Given the description of an element on the screen output the (x, y) to click on. 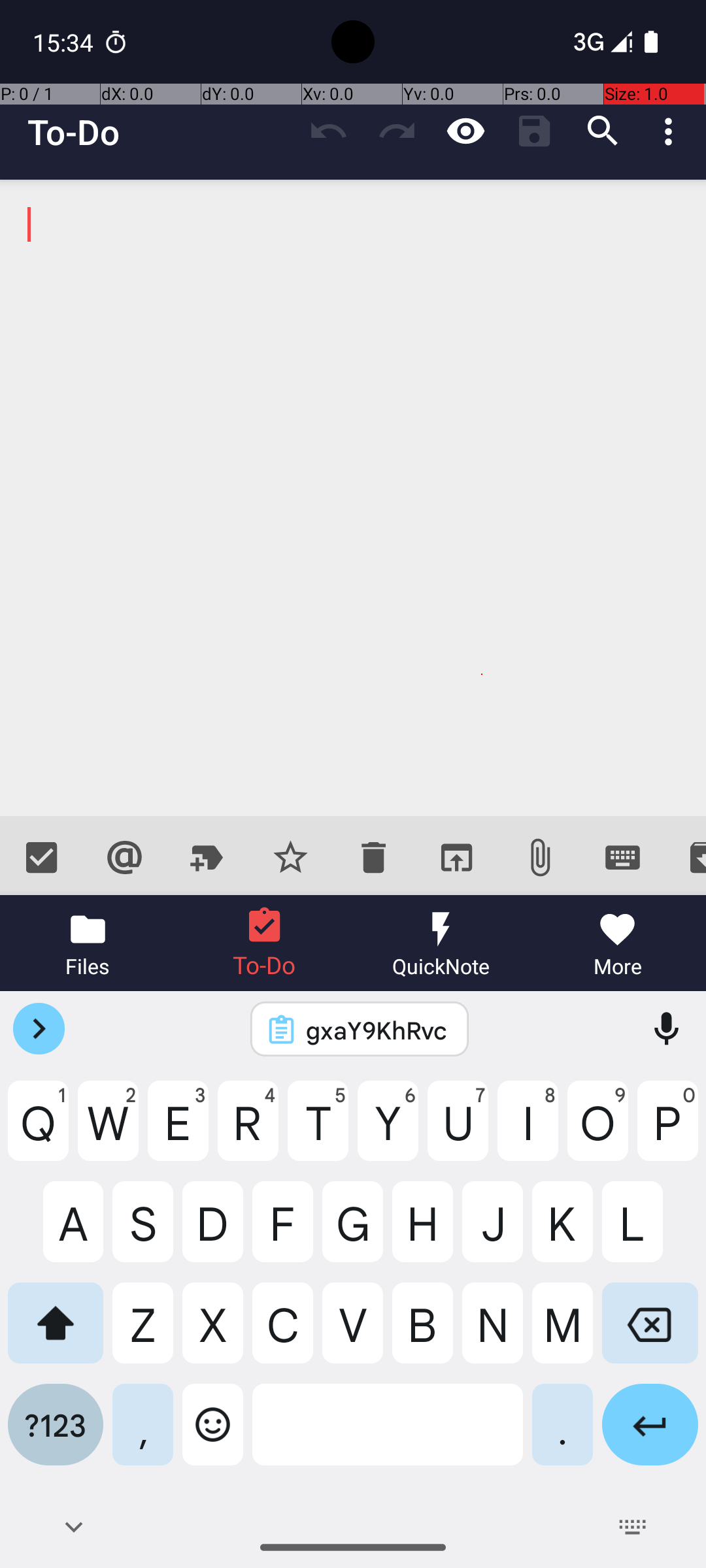
gxaY9KhRvc Element type: android.widget.TextView (376, 1029)
